Given the description of an element on the screen output the (x, y) to click on. 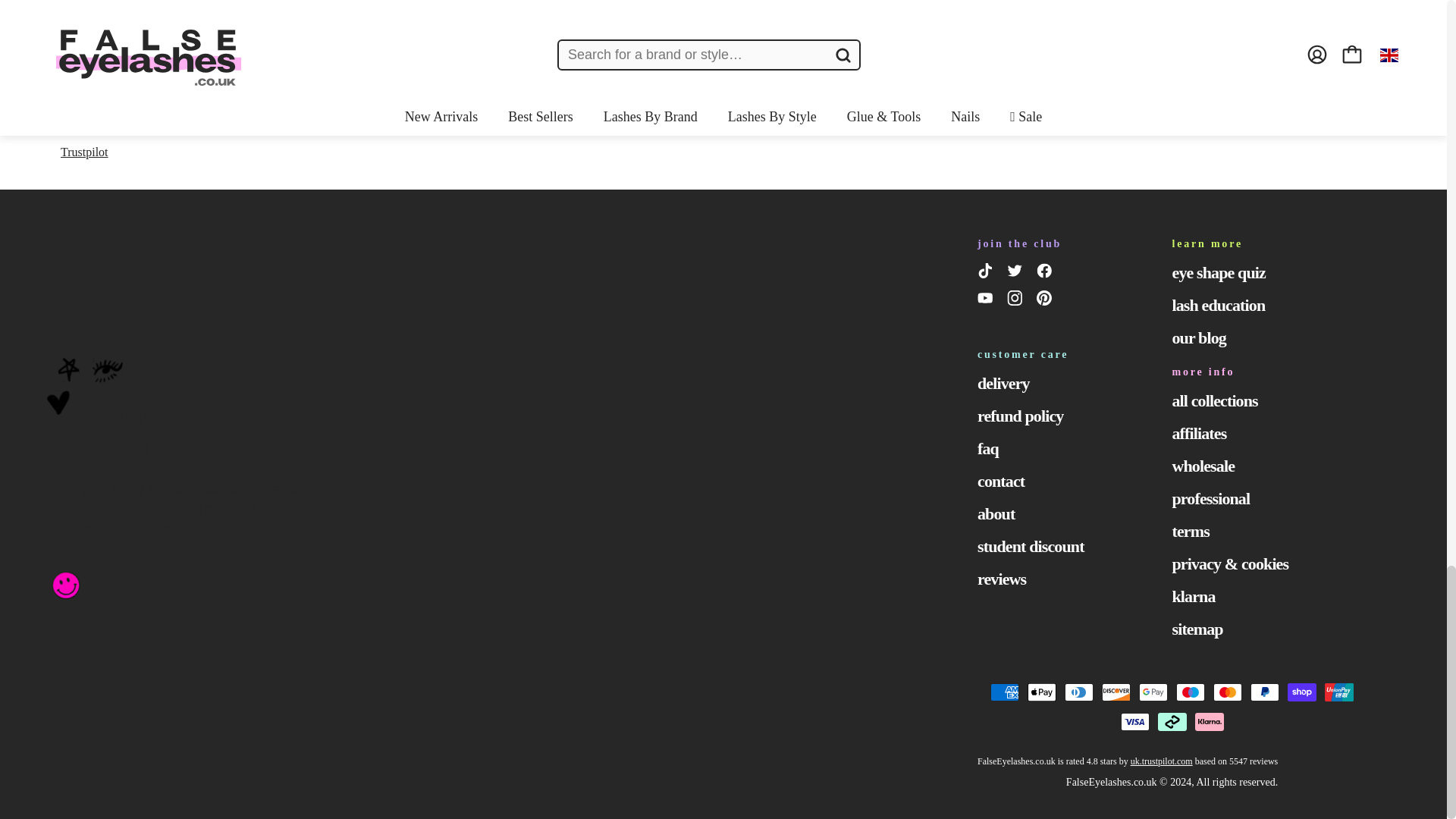
FalseEyelashes.co.uk on Twitter (1017, 273)
FalseEyelashes.co.uk on TikTok (986, 273)
FalseEyelashes.co.uk on Facebook (1046, 273)
FalseEyelashes.co.uk on Instagram (1017, 301)
FalseEyelashes.co.uk on YouTube (986, 301)
